Given the description of an element on the screen output the (x, y) to click on. 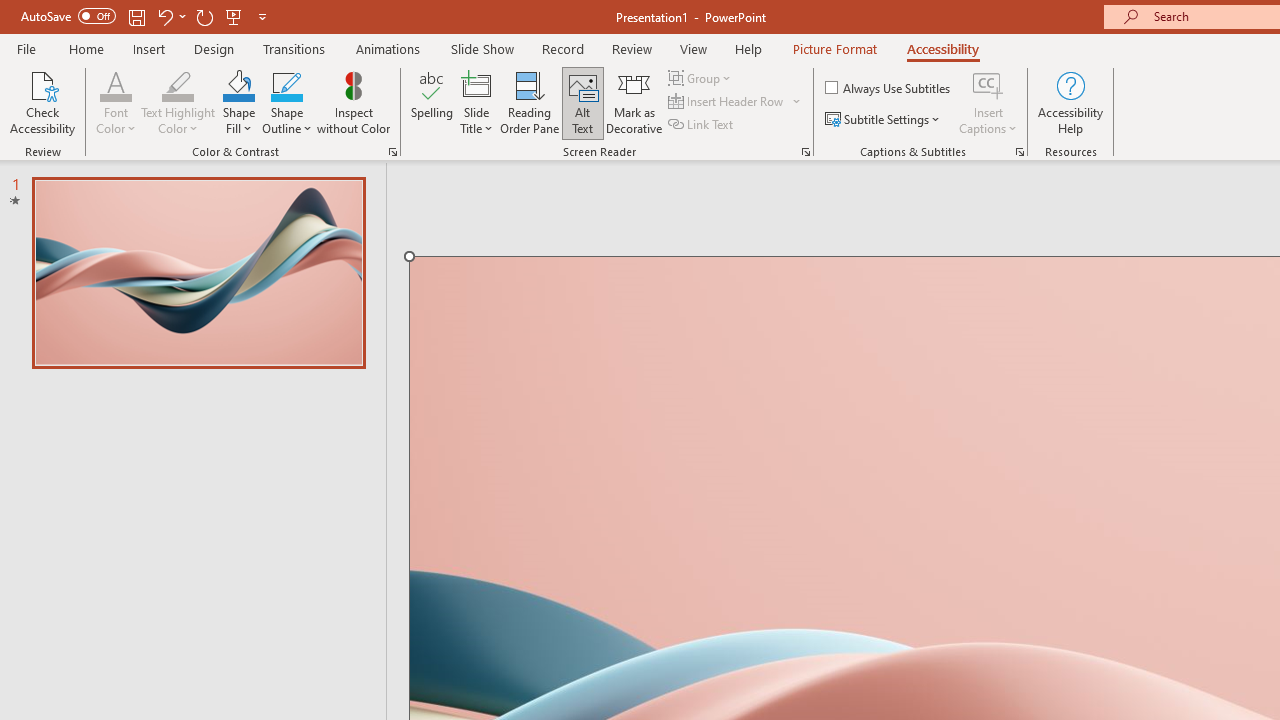
Picture Format (834, 48)
Subtitle Settings (884, 119)
Color & Contrast (392, 151)
